Given the description of an element on the screen output the (x, y) to click on. 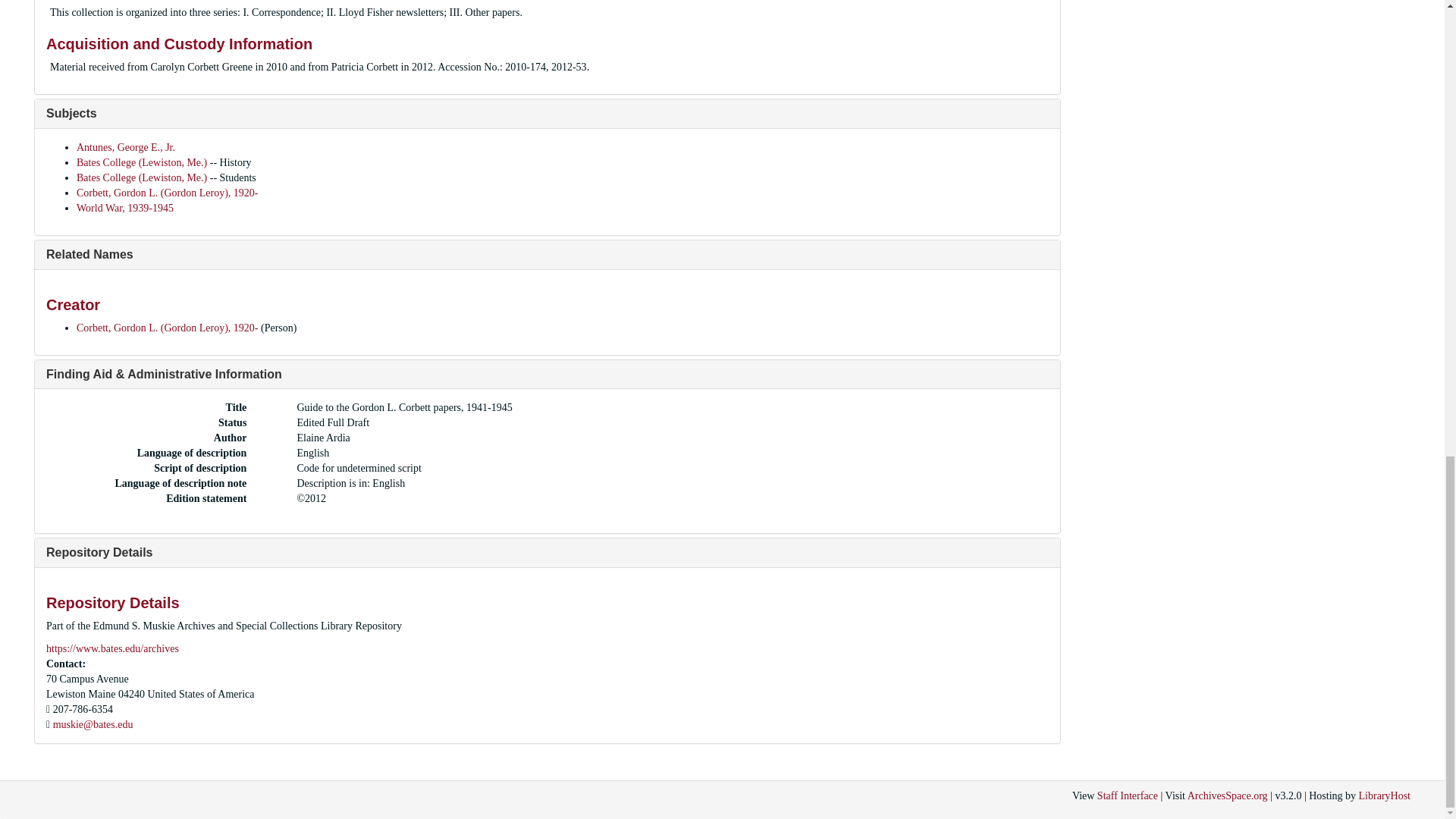
Subjects (71, 113)
World War, 1939-1945 (125, 207)
Send email (92, 724)
Antunes, George E., Jr. (125, 147)
Related Names (89, 254)
Repository Details (99, 552)
